Given the description of an element on the screen output the (x, y) to click on. 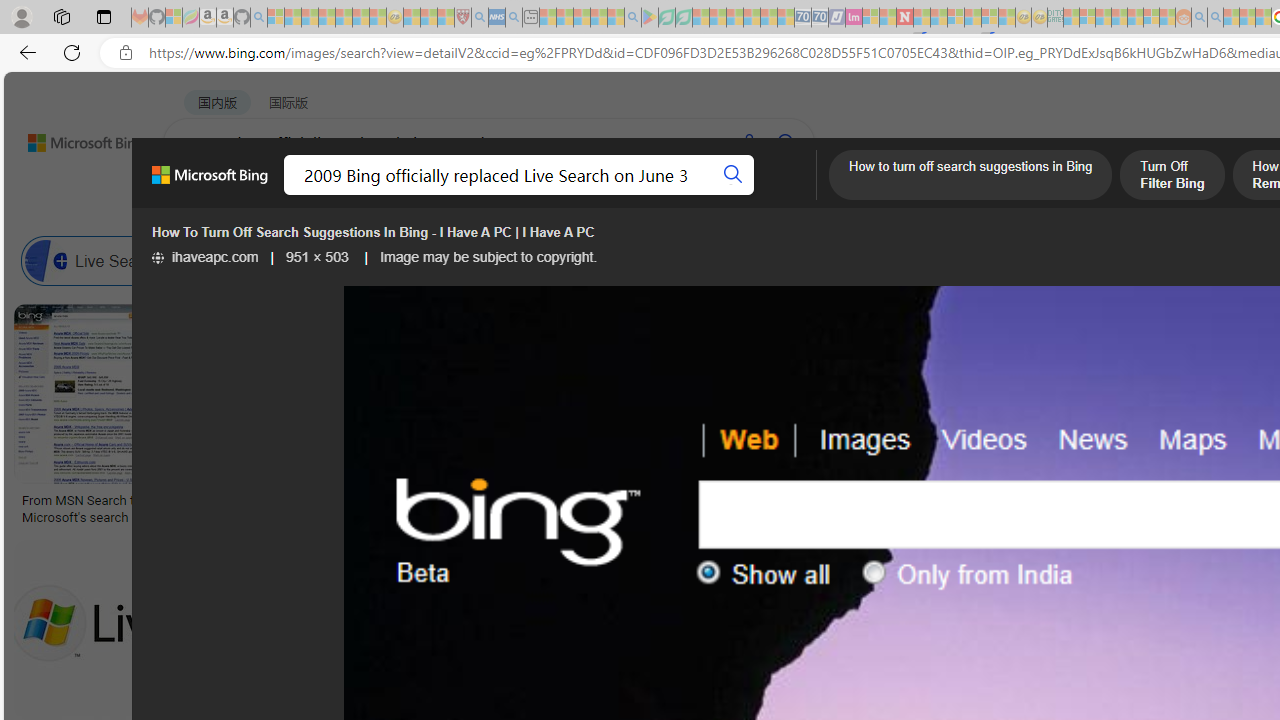
Dropdown Menu (793, 195)
Microsoft Live LogoSave (740, 417)
Bing Best Search Engine (1115, 260)
How to turn off search suggestions in Bing (970, 177)
